Given the description of an element on the screen output the (x, y) to click on. 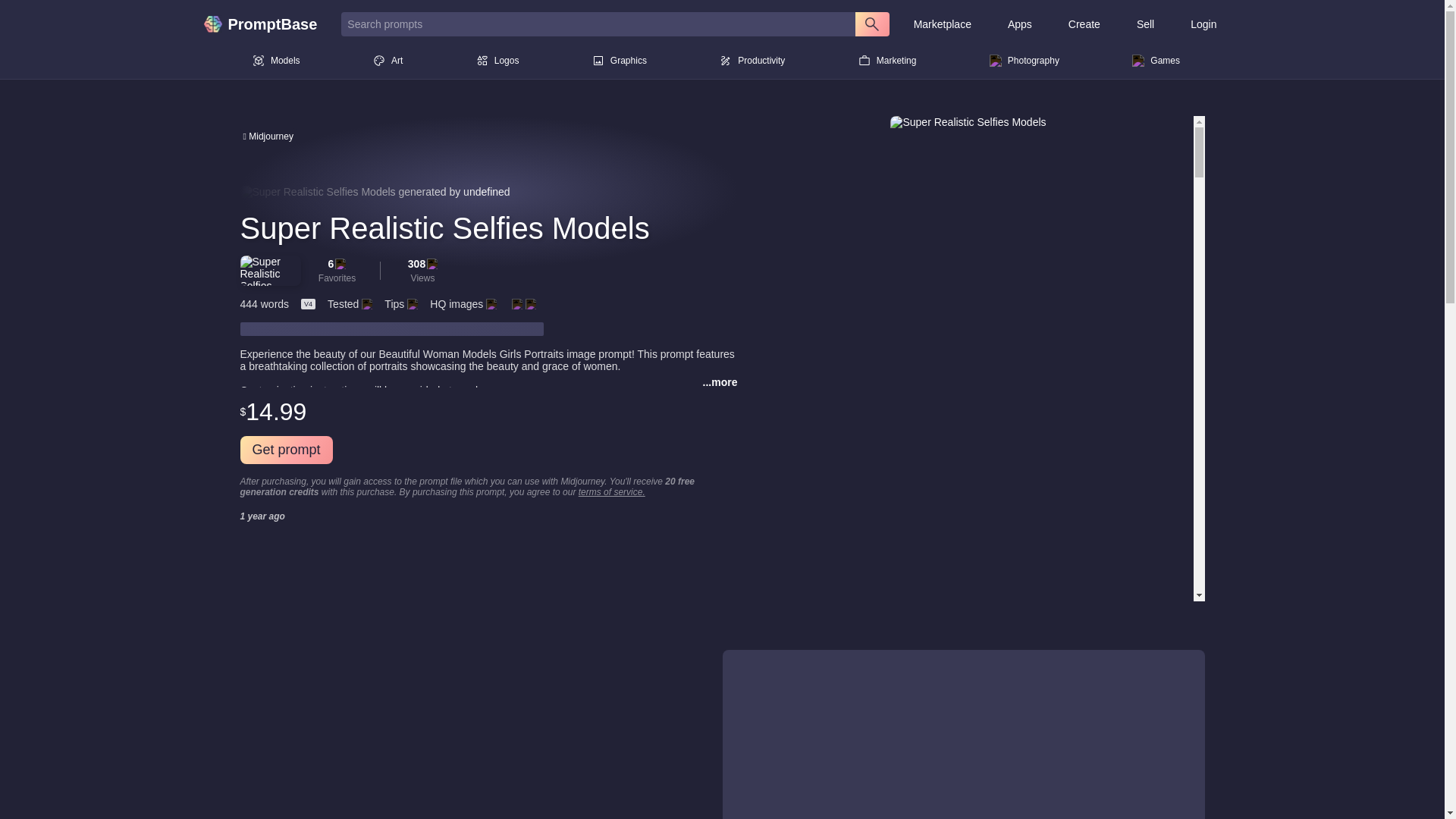
Art (387, 60)
Apps (1019, 24)
Productivity (751, 60)
Models (276, 60)
midjourney prompts (267, 135)
Games (1155, 60)
Marketplace (942, 24)
Logos (497, 60)
Photography (1023, 60)
Sell (1145, 24)
